Given the description of an element on the screen output the (x, y) to click on. 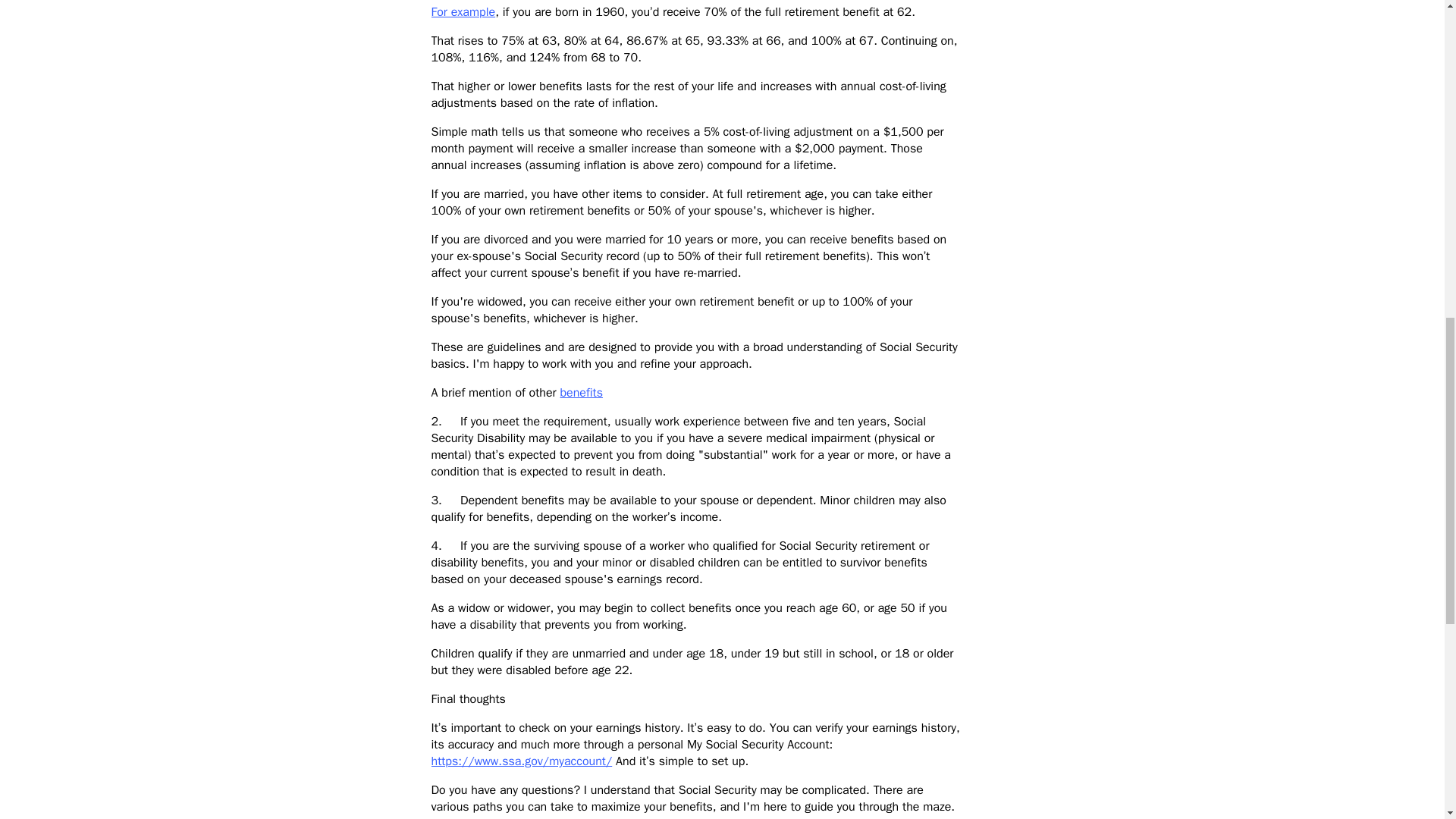
benefits (580, 392)
For example (462, 11)
